Given the description of an element on the screen output the (x, y) to click on. 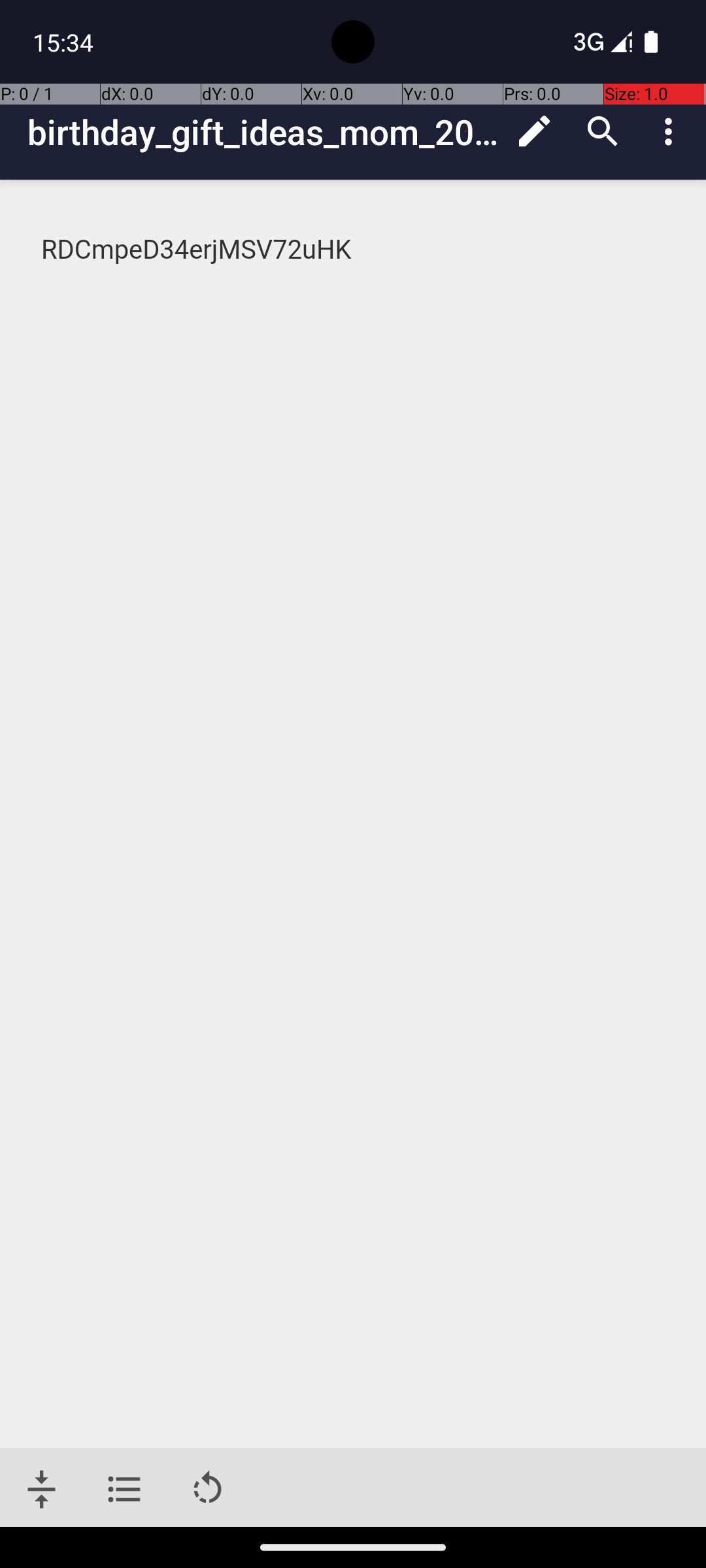
birthday_gift_ideas_mom_2023_05_14 Element type: android.widget.TextView (263, 131)
Jump to bottom Element type: android.widget.ImageView (41, 1488)
Rotate Element type: android.widget.ImageView (207, 1488)
RDCmpeD34erjMSV72uHK Element type: android.widget.TextView (354, 249)
